Given the description of an element on the screen output the (x, y) to click on. 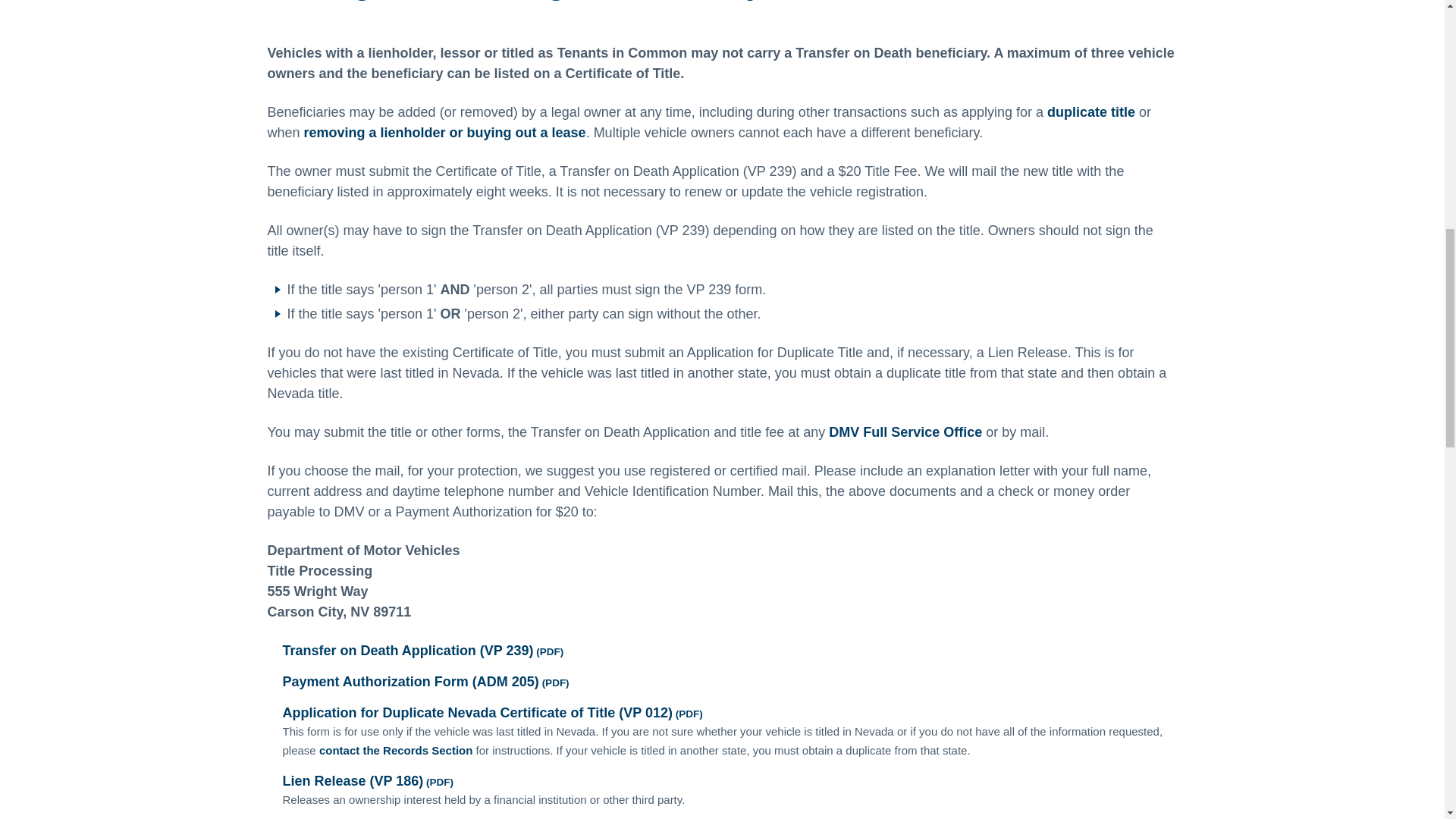
removing a lienholder or buying out a lease (445, 132)
DMV Full Service Office (904, 432)
contact the Records Section (395, 749)
duplicate title (1090, 111)
